Given the description of an element on the screen output the (x, y) to click on. 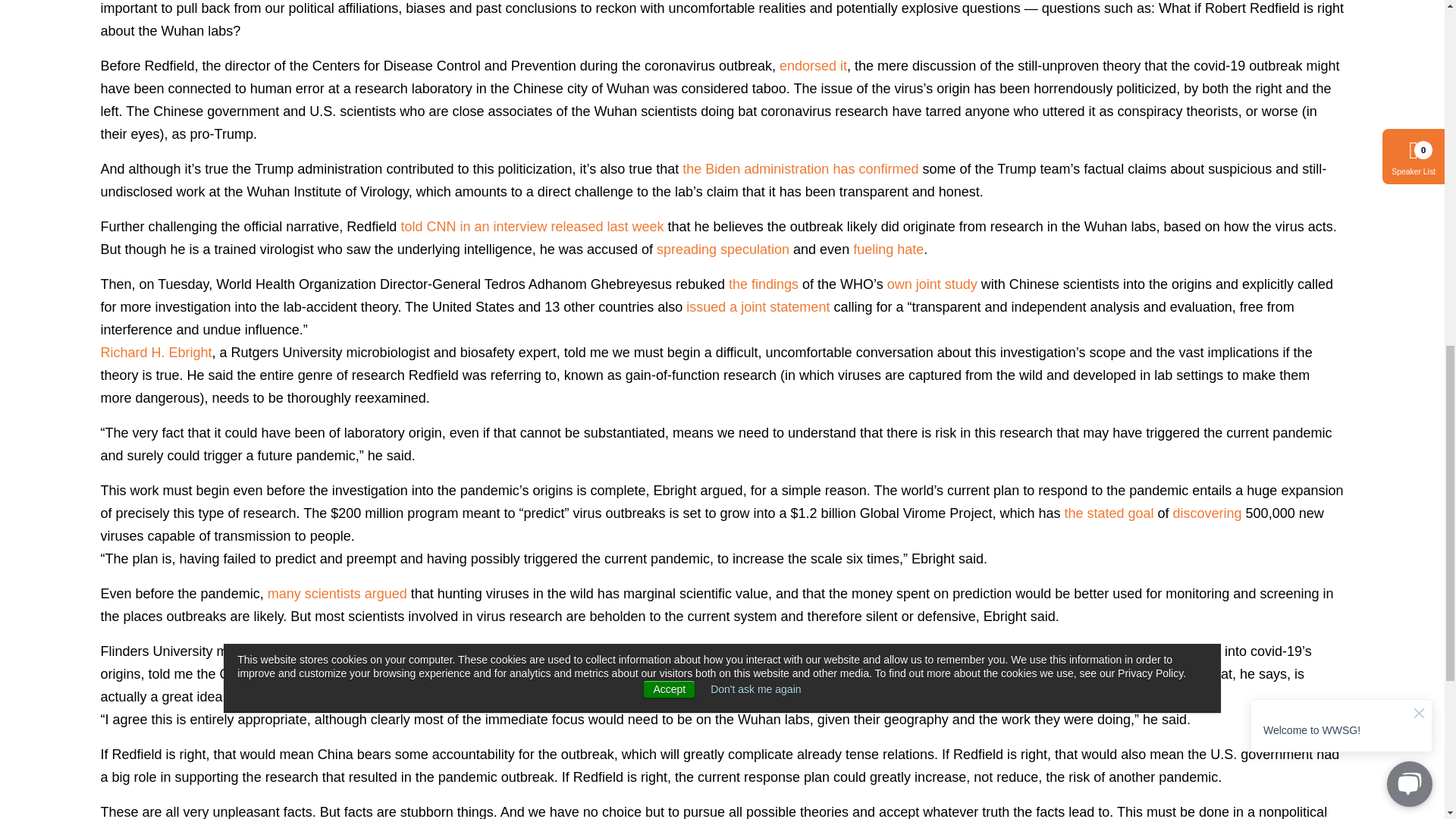
www.globalviromeproject.org (1207, 513)
www.nature.com (337, 593)
www.waksman.rutgers.edu (155, 352)
